Given the description of an element on the screen output the (x, y) to click on. 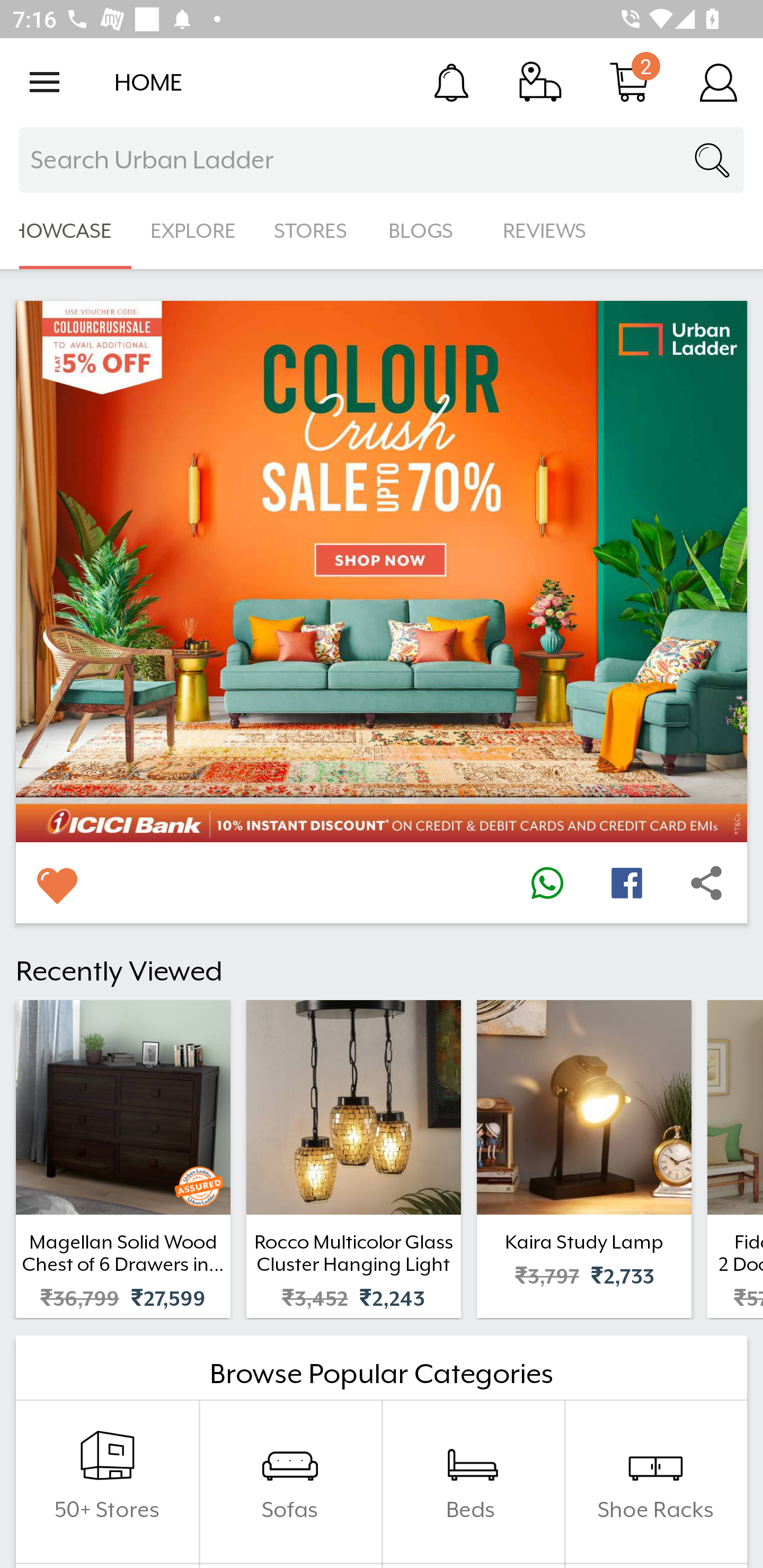
Open navigation drawer (44, 82)
Notification (450, 81)
Track Order (540, 81)
Cart (629, 81)
Account Details (718, 81)
Search Urban Ladder  (381, 159)
SHOWCASE (65, 230)
EXPLORE (192, 230)
STORES (311, 230)
BLOGS (426, 230)
REVIEWS (544, 230)
 (55, 882)
 (547, 882)
 (626, 882)
 (706, 882)
Kaira Study Lamp ₹3,797 ₹2,733 (583, 1159)
50+ Stores (106, 1481)
Sofas (289, 1481)
Beds  (473, 1481)
Shoe Racks (655, 1481)
